Given the description of an element on the screen output the (x, y) to click on. 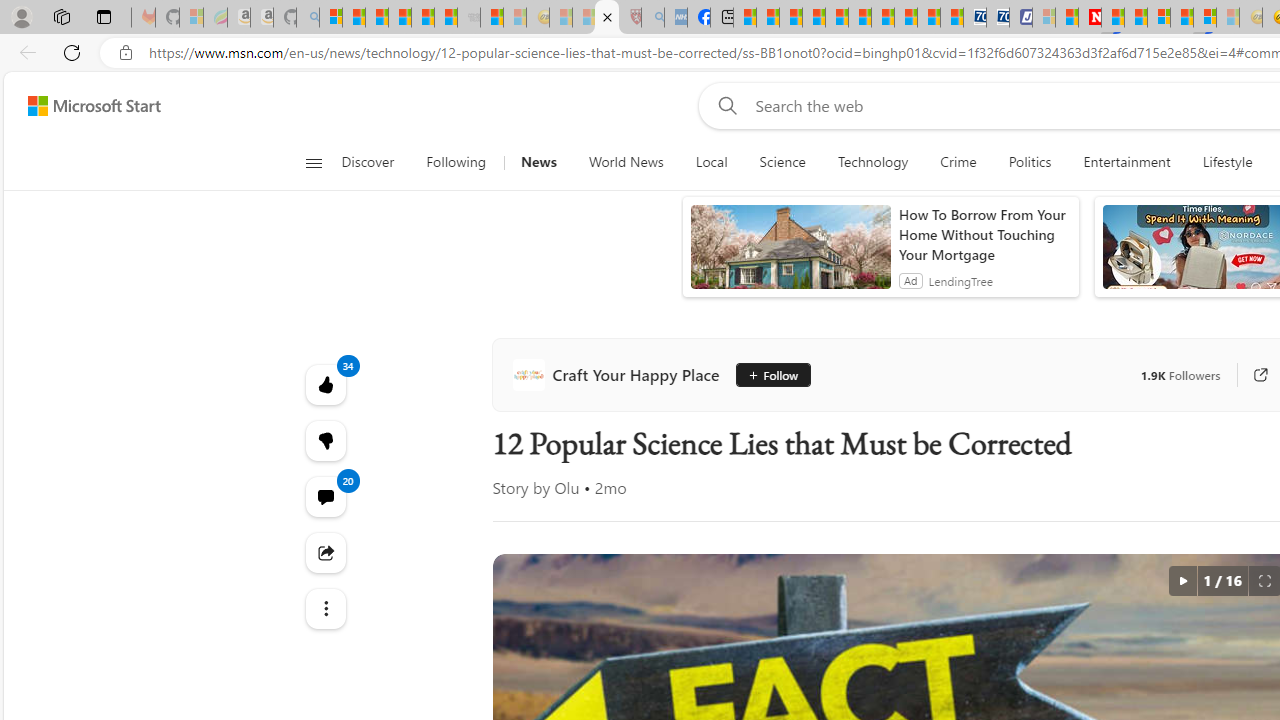
Class: at-item (324, 609)
The Weather Channel - MSN (376, 17)
